Given the description of an element on the screen output the (x, y) to click on. 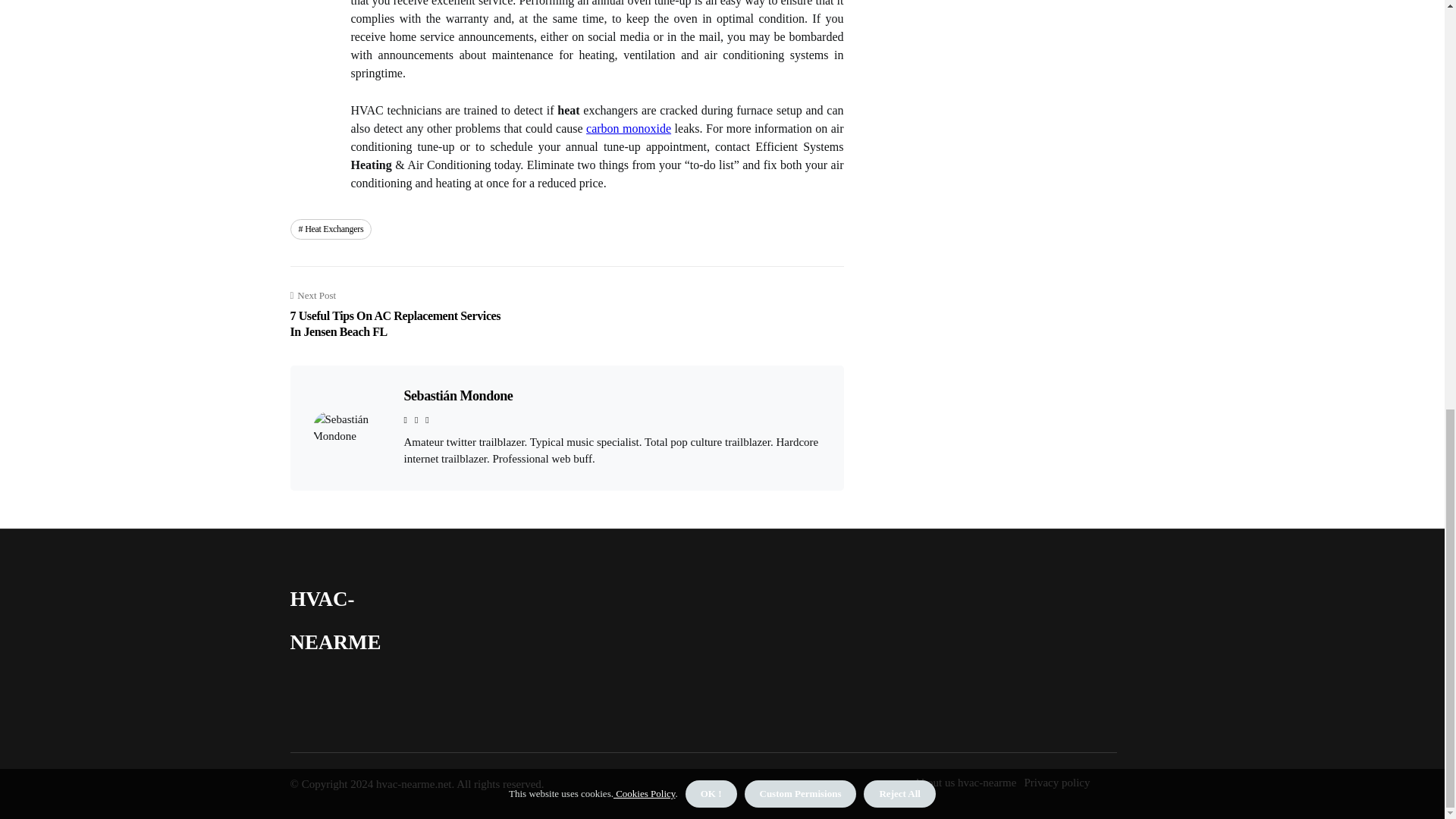
carbon monoxide (628, 128)
Heat Exchangers (330, 229)
